Given the description of an element on the screen output the (x, y) to click on. 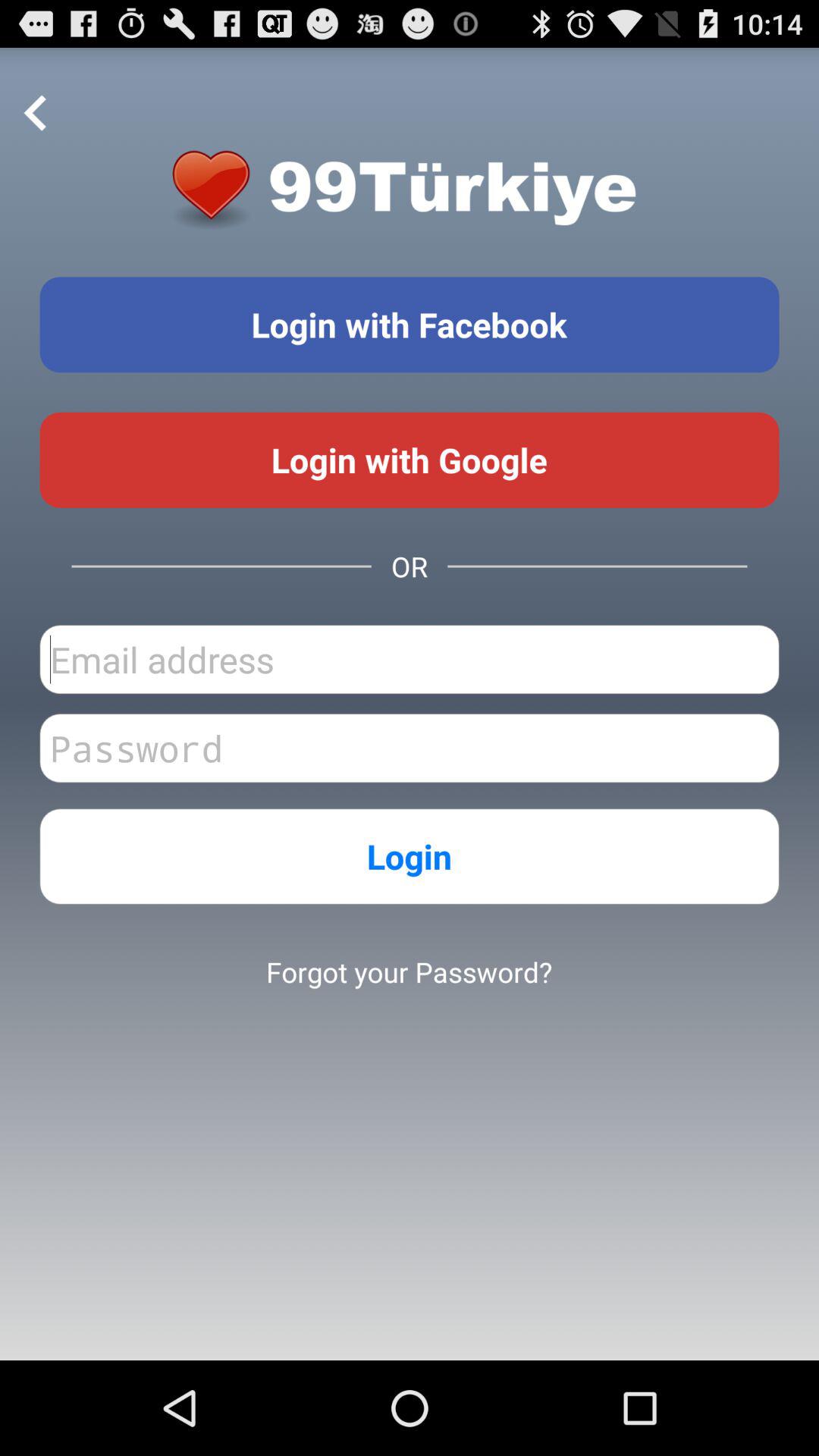
password input field (409, 747)
